Given the description of an element on the screen output the (x, y) to click on. 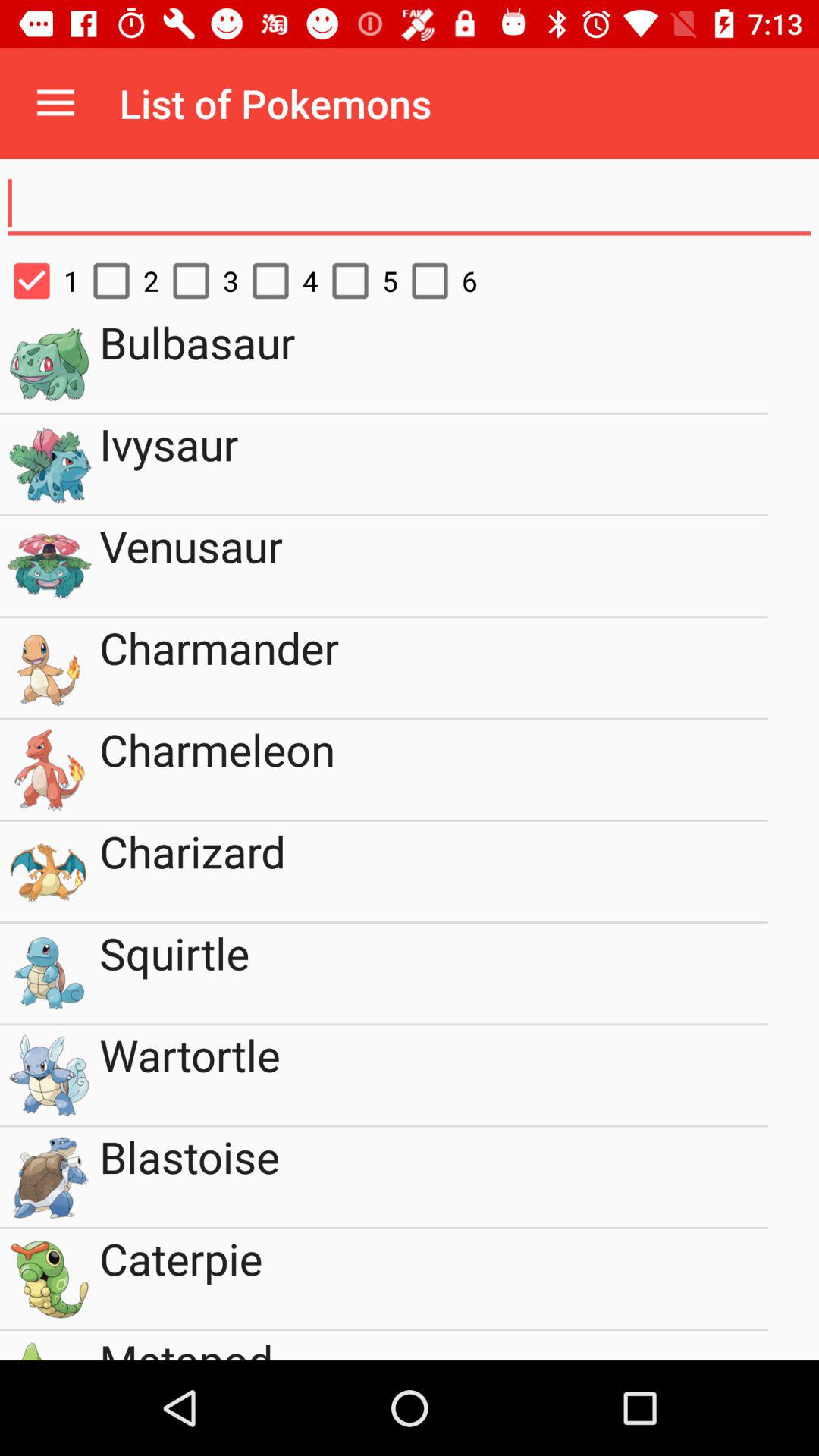
turn off icon to the left of the list of pokemons (55, 103)
